Given the description of an element on the screen output the (x, y) to click on. 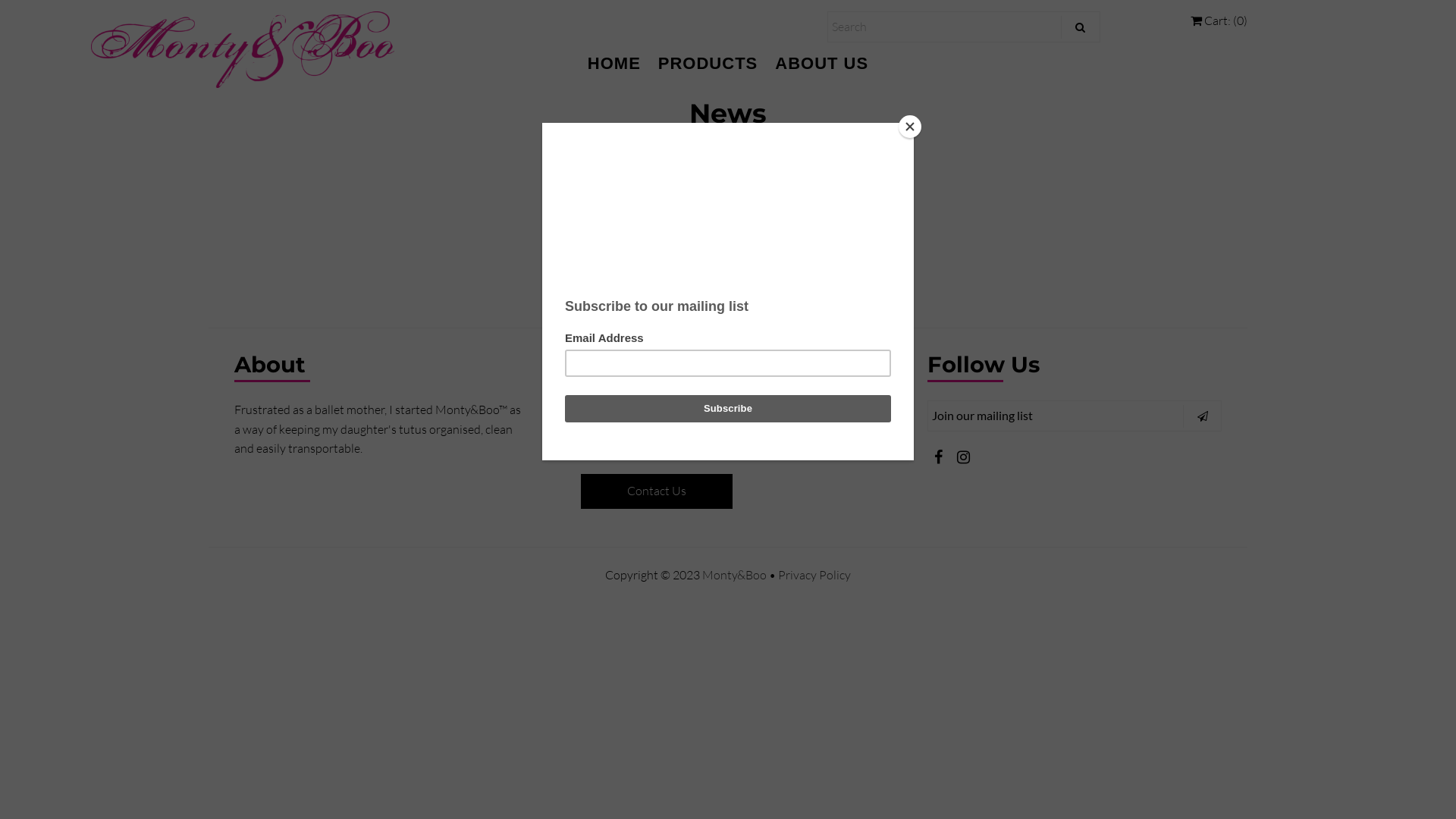
ABOUT US Element type: text (821, 63)
PRODUCTS Element type: text (707, 63)
HOME Element type: text (614, 63)
Contact Us Element type: text (656, 490)
Cart: (0) Element type: text (1218, 20)
Monty&Boo Element type: text (734, 574)
Privacy Policy Element type: text (814, 574)
